Given the description of an element on the screen output the (x, y) to click on. 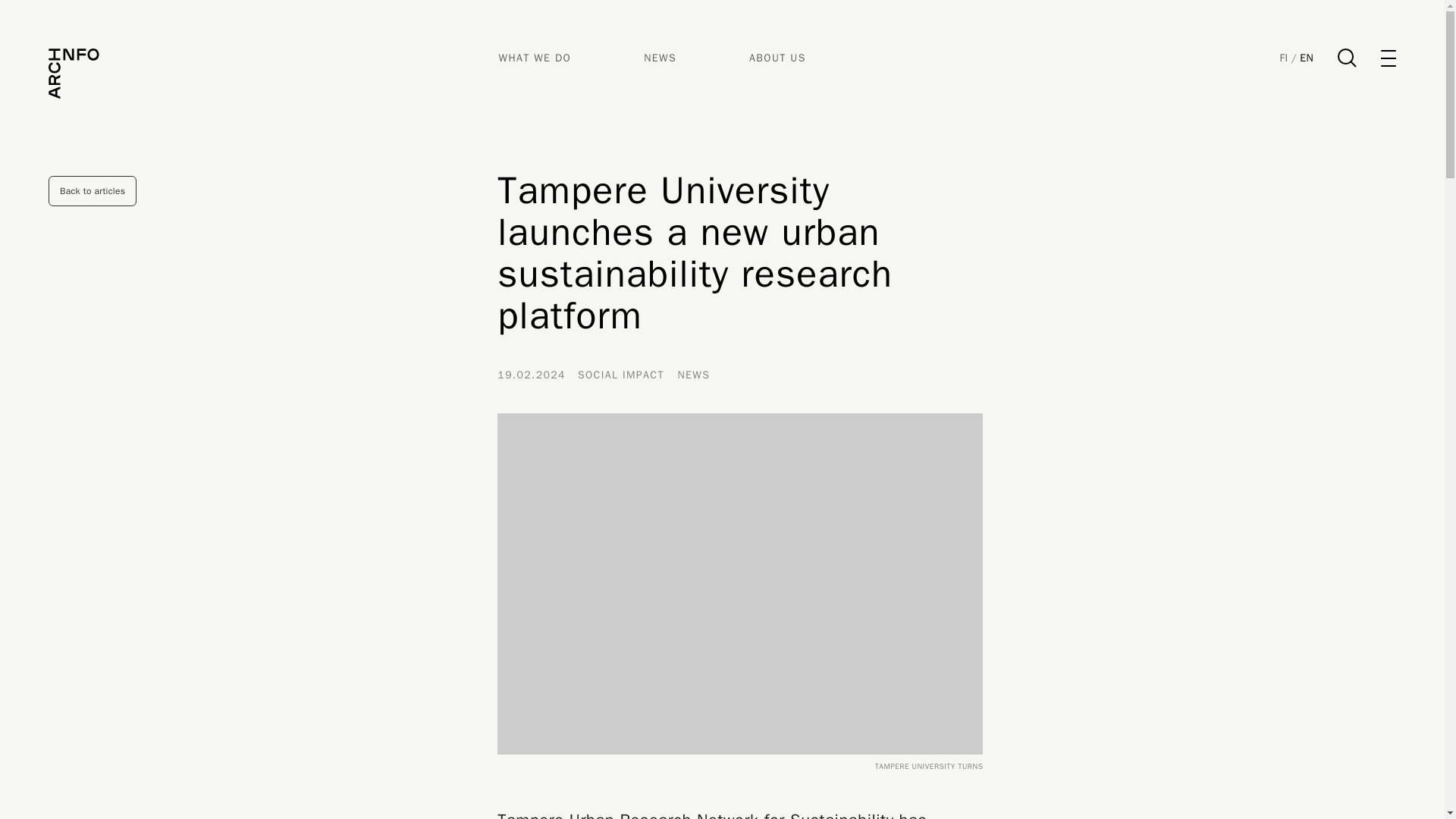
NEWS (660, 57)
WHAT WE DO (535, 57)
Archinfo (74, 73)
ABOUT US (777, 57)
